Given the description of an element on the screen output the (x, y) to click on. 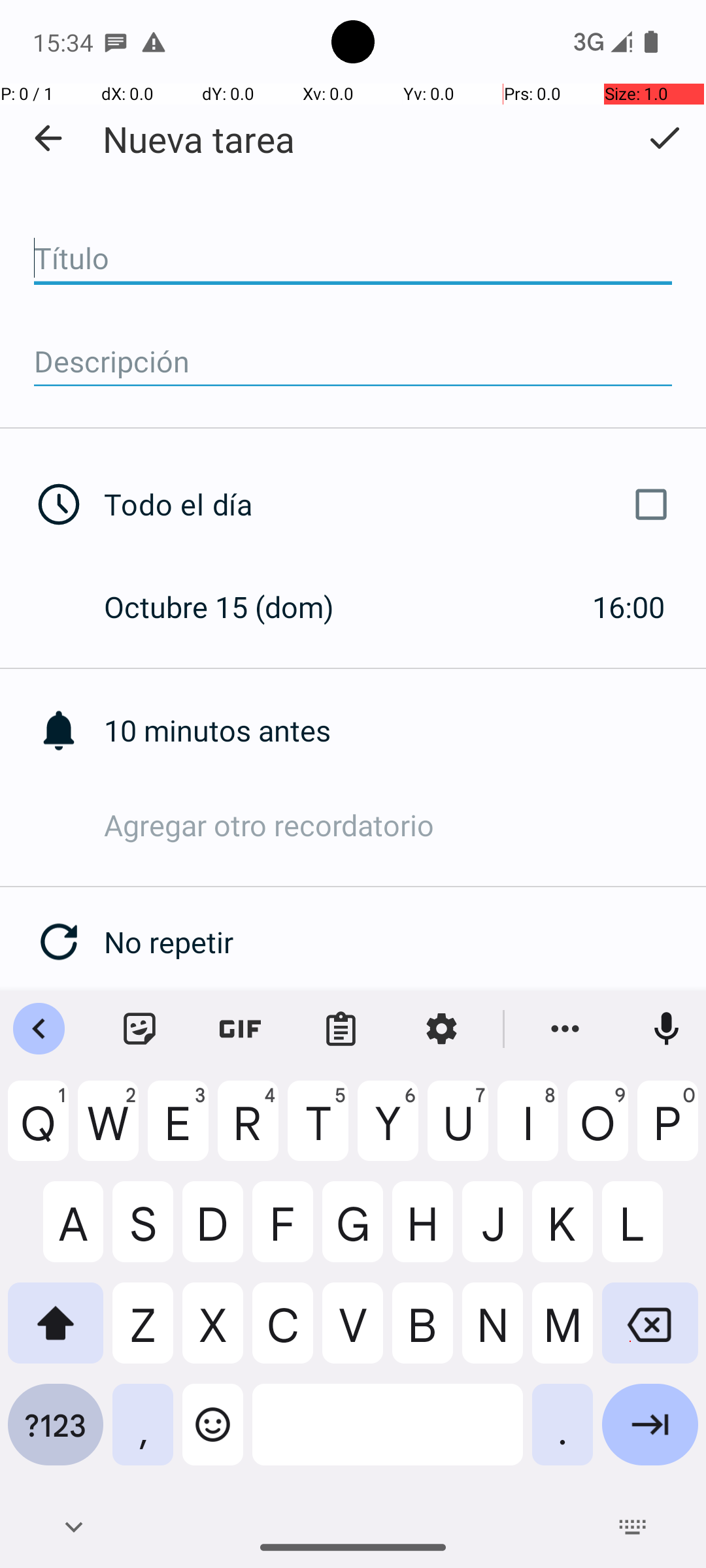
Nueva tarea Element type: android.widget.TextView (198, 138)
Guardar Element type: android.widget.Button (664, 137)
Título Element type: android.widget.EditText (352, 258)
Descripción Element type: android.widget.EditText (352, 361)
Octubre 15 (dom) Element type: android.widget.TextView (232, 606)
16:00 Element type: android.widget.TextView (628, 606)
10 minutos antes Element type: android.widget.TextView (404, 729)
Agregar otro recordatorio Element type: android.widget.TextView (404, 824)
No repetir Element type: android.widget.TextView (404, 941)
Todo el día Element type: android.widget.CheckBox (390, 504)
